Given the description of an element on the screen output the (x, y) to click on. 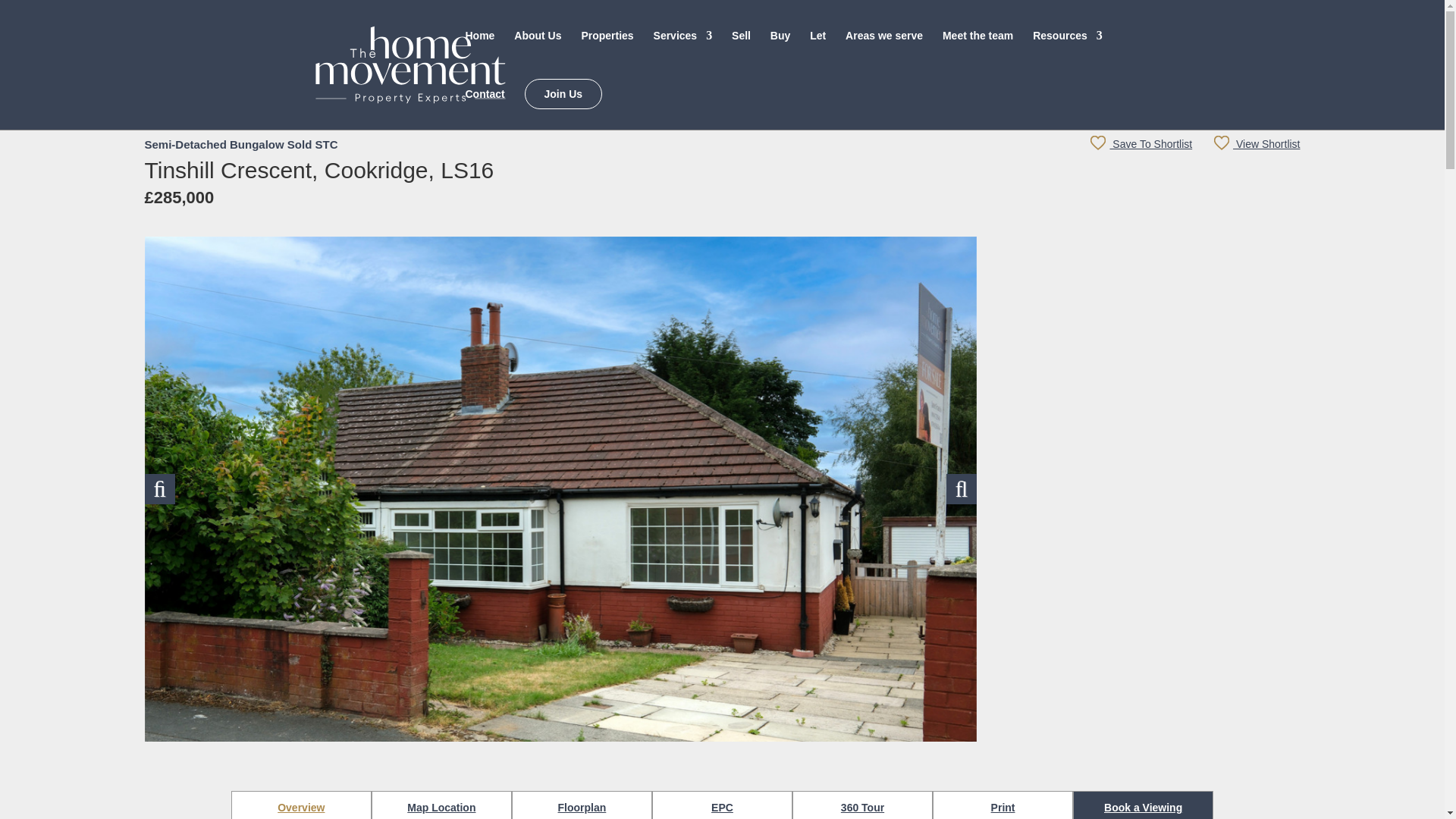
About Us (536, 50)
Join Us (563, 93)
Resources (1067, 50)
Meet the team (977, 50)
Services (683, 50)
Contact (485, 108)
Properties (606, 50)
Areas we serve (884, 50)
